Given the description of an element on the screen output the (x, y) to click on. 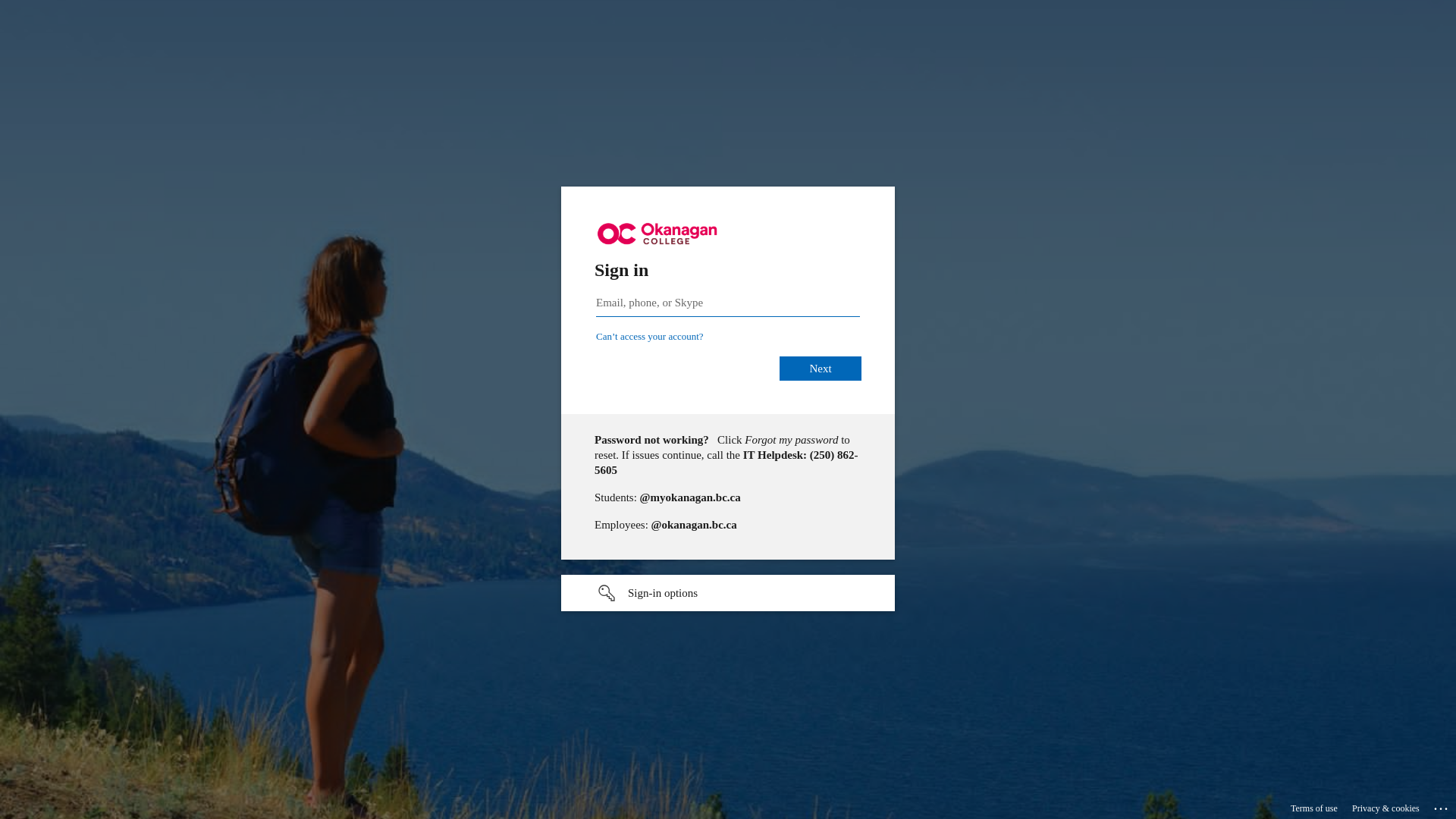
... Element type: text (1441, 805)
Next Element type: text (820, 368)
